Given the description of an element on the screen output the (x, y) to click on. 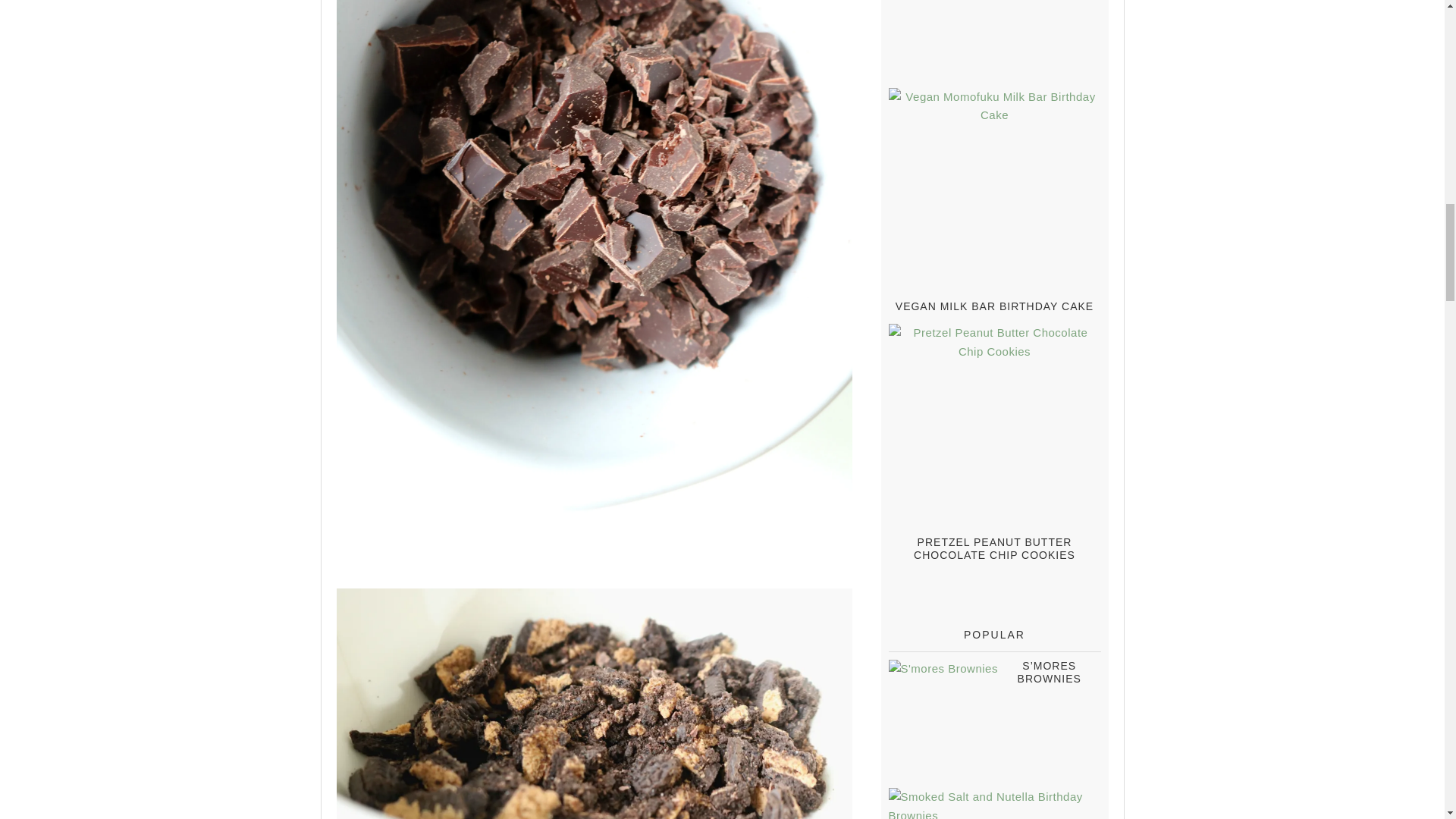
Vegan Milk Bar Birthday Cake (994, 306)
Pretzel Peanut Butter Chocolate Chip Cookies (994, 548)
Smoked Salt and Nutella Birthday Brownies (994, 803)
